Given the description of an element on the screen output the (x, y) to click on. 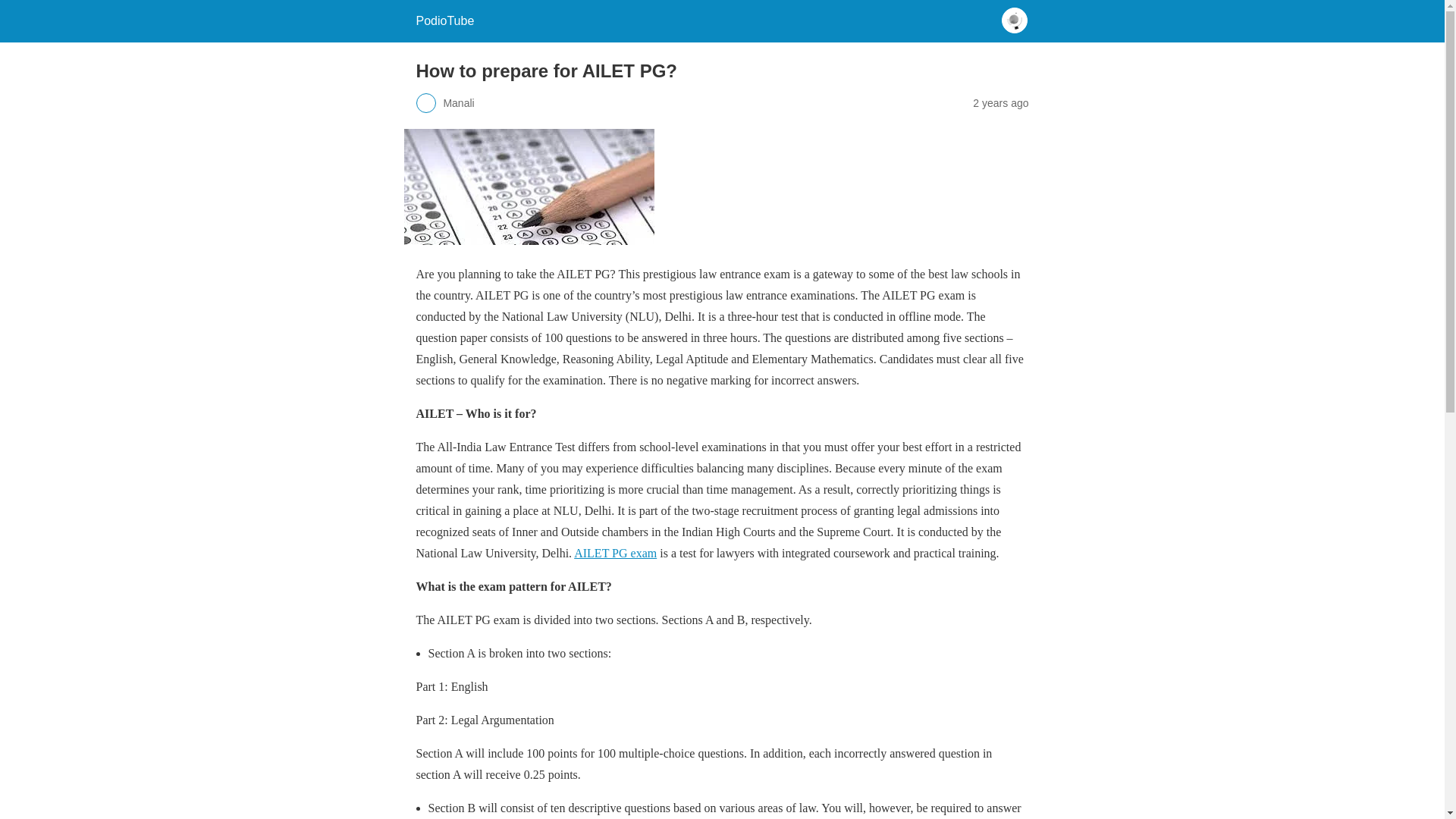
PodioTube (444, 20)
AILET PG exam (614, 553)
